Given the description of an element on the screen output the (x, y) to click on. 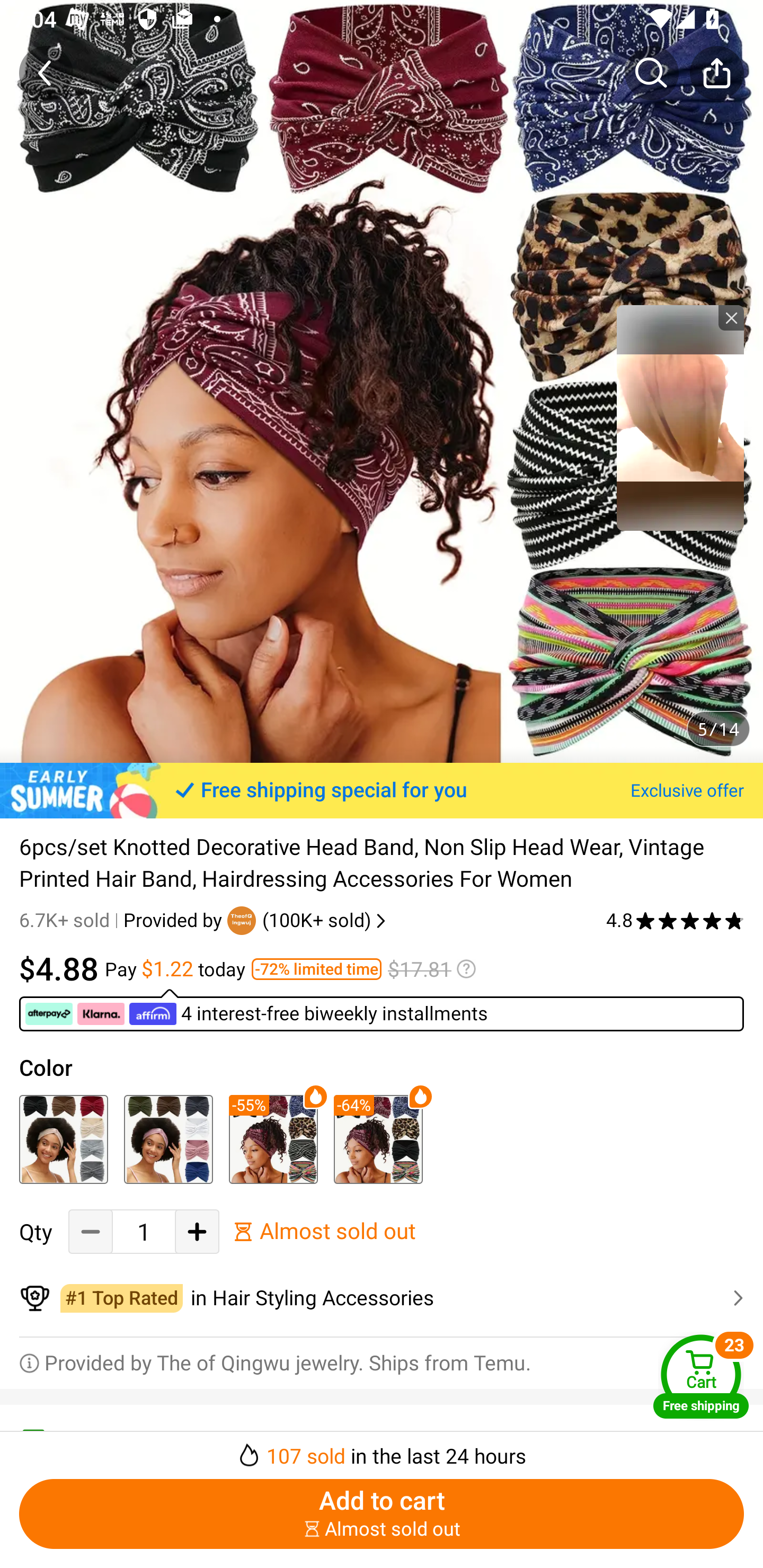
Back (46, 72)
Share (716, 72)
Free shipping special for you Exclusive offer (381, 790)
6.7K+ sold Provided by  (123, 920)
4.8 (674, 920)
￼ ￼ ￼ 4 interest-free biweekly installments (381, 1009)
6pcs Solid Color A (63, 1138)
6pcs Solid Color B (167, 1138)
6 Pieces Bohemian C -55% (273, 1138)
6 Piece Set D -64% (378, 1138)
Decrease Quantity Button (90, 1231)
Add Quantity button (196, 1231)
1 (143, 1232)
￼￼in Hair Styling Accessories (381, 1297)
Cart Free shipping Cart (701, 1375)
￼￼107 sold in the last 24 hours (381, 1450)
Add to cart ￼￼Almost sold out (381, 1513)
